Given the description of an element on the screen output the (x, y) to click on. 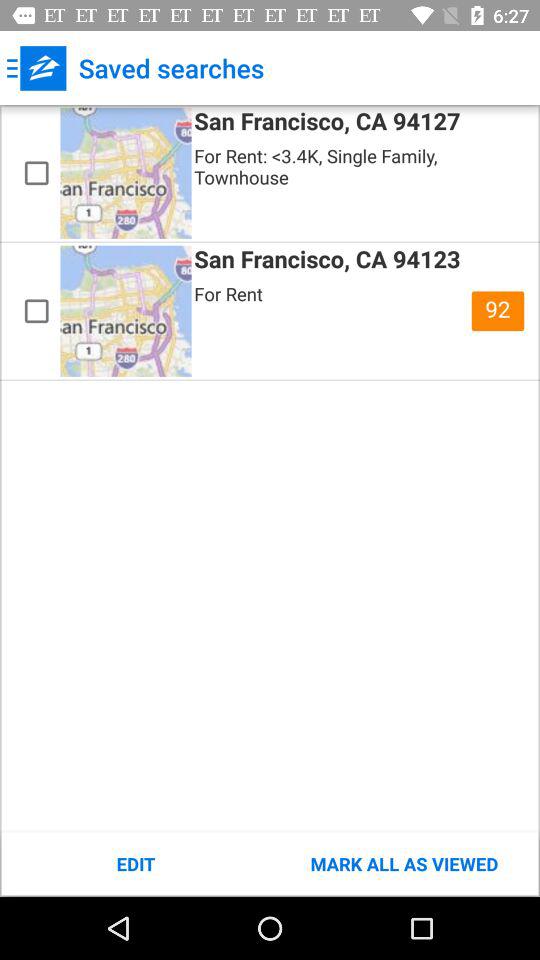
click item to the right of edit (404, 863)
